Given the description of an element on the screen output the (x, y) to click on. 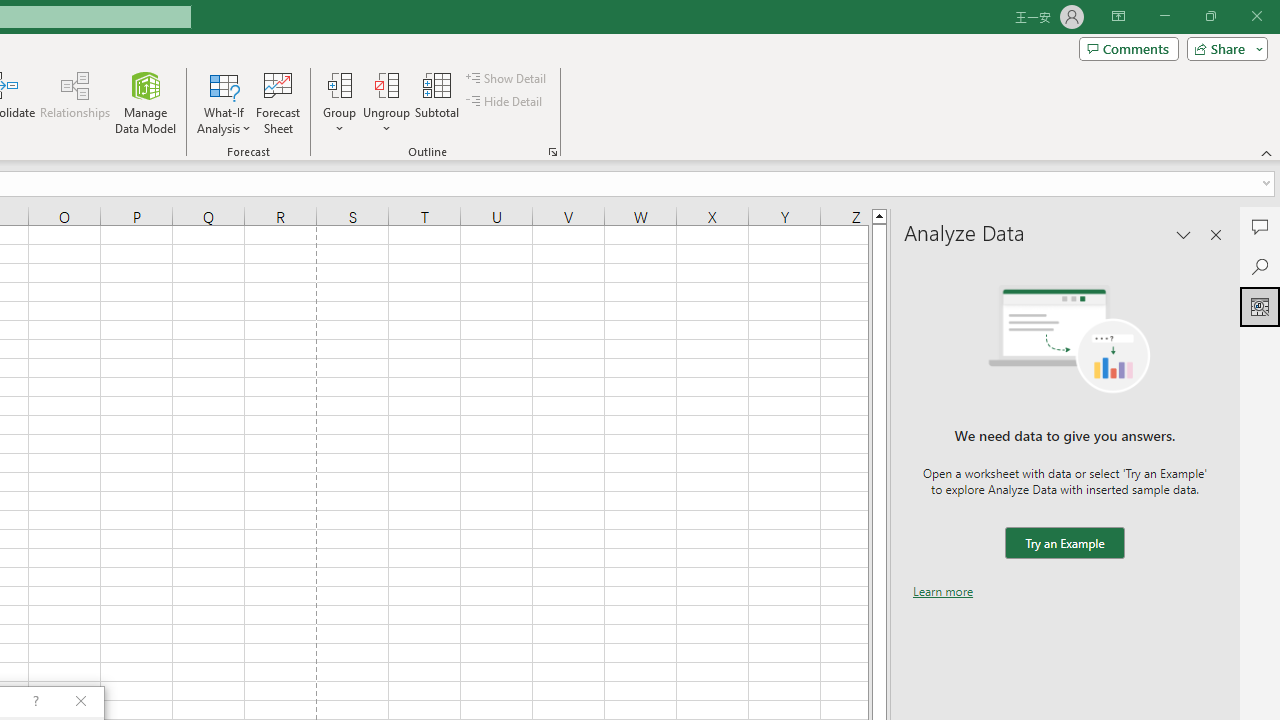
Subtotal (437, 102)
Learn more (943, 591)
Forecast Sheet (278, 102)
Manage Data Model (145, 102)
